Given the description of an element on the screen output the (x, y) to click on. 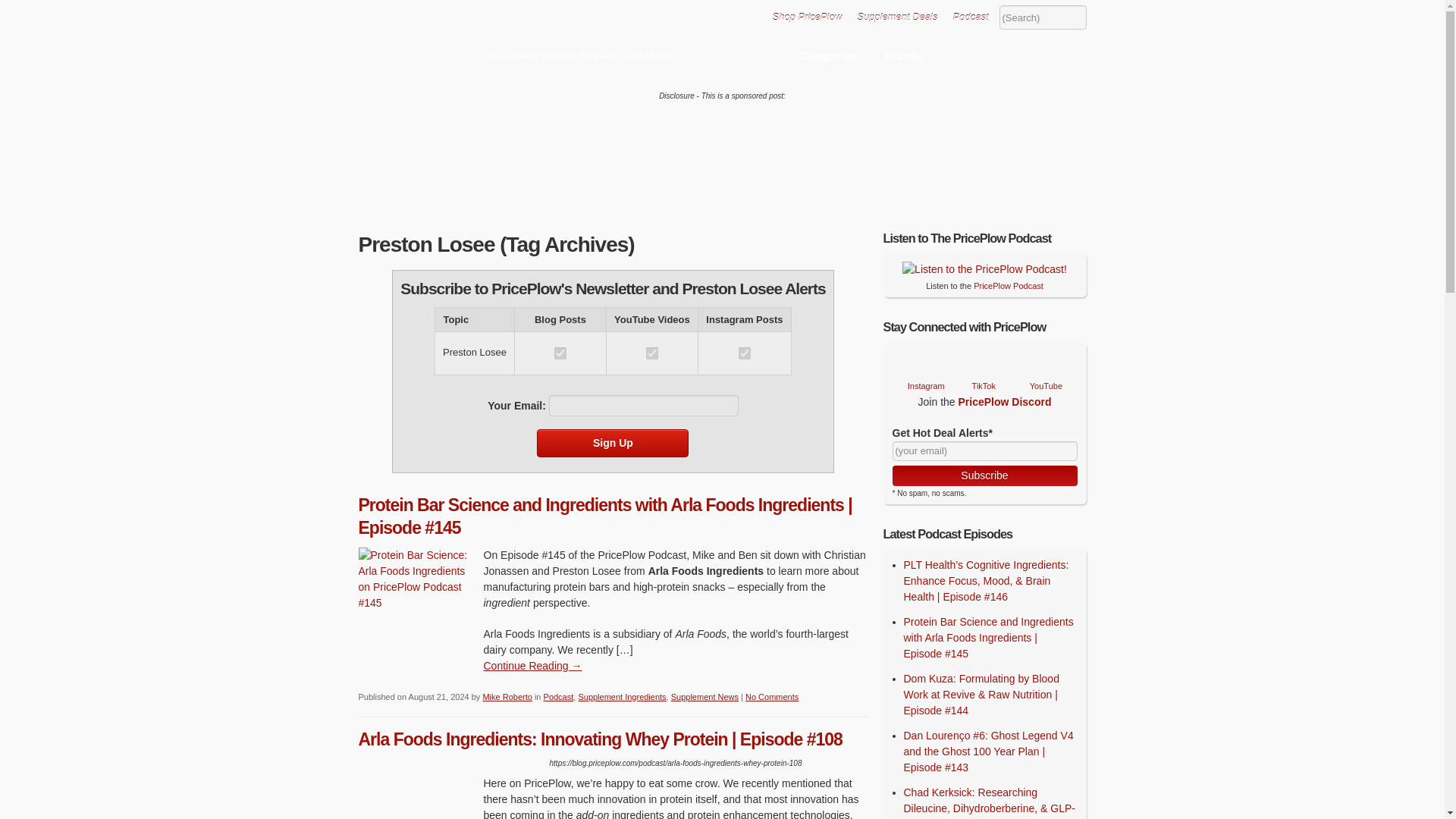
Sign Up (612, 443)
Mike Roberto (506, 696)
Preston Losee (560, 353)
Shop PricePlow (806, 16)
Listen to the PricePlow Podcast! (970, 16)
The PricePlow Blog Home (416, 45)
Podcast (558, 696)
Podcast (970, 16)
Preston Losee (652, 353)
Brands (903, 53)
